Given the description of an element on the screen output the (x, y) to click on. 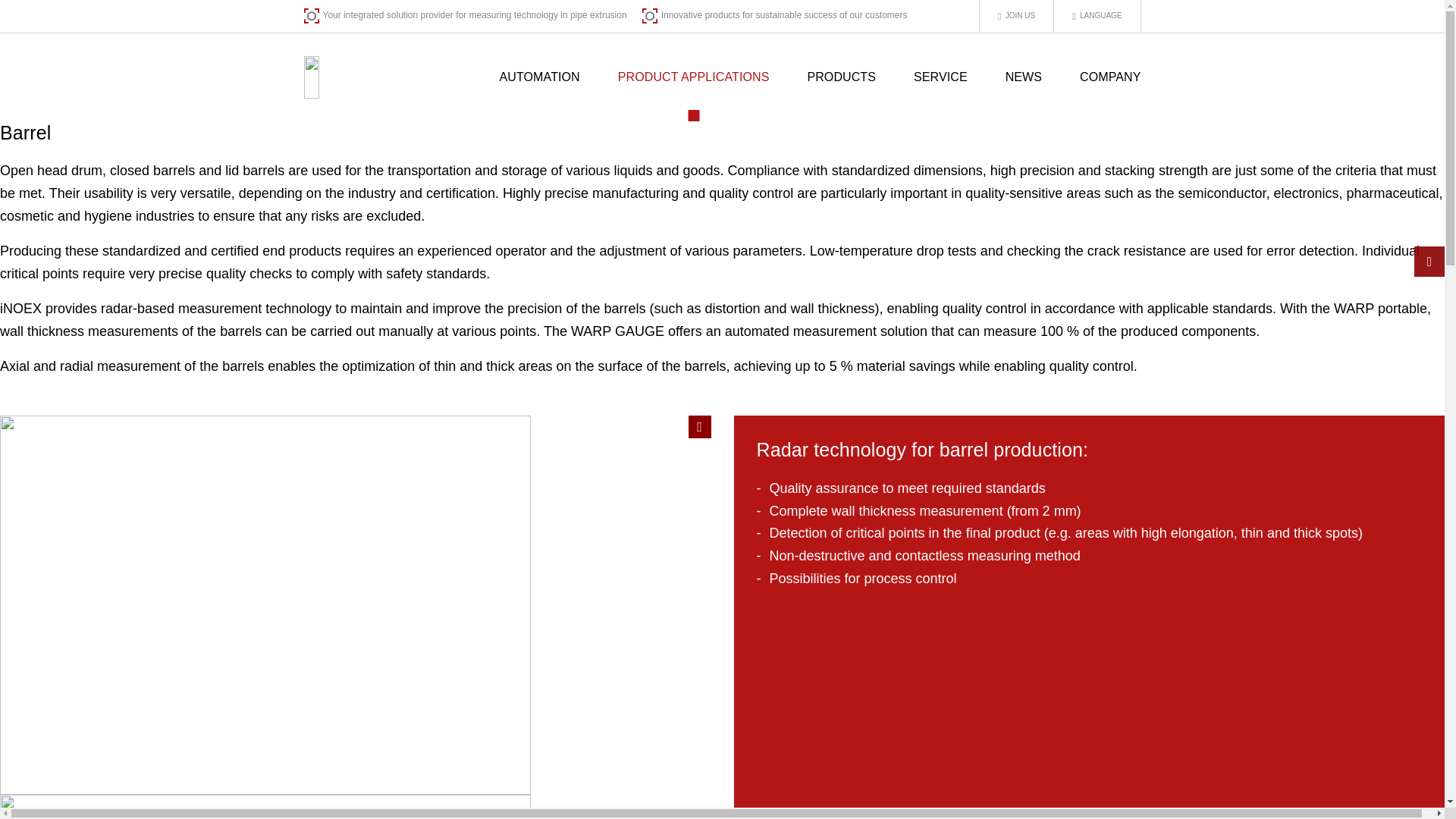
LANGUAGE (1097, 16)
iNOEX GmbH (365, 77)
Automation (539, 77)
Product applications (693, 77)
JOIN US (1016, 16)
AUTOMATION (539, 77)
PRODUCT APPLICATIONS (693, 77)
